Given the description of an element on the screen output the (x, y) to click on. 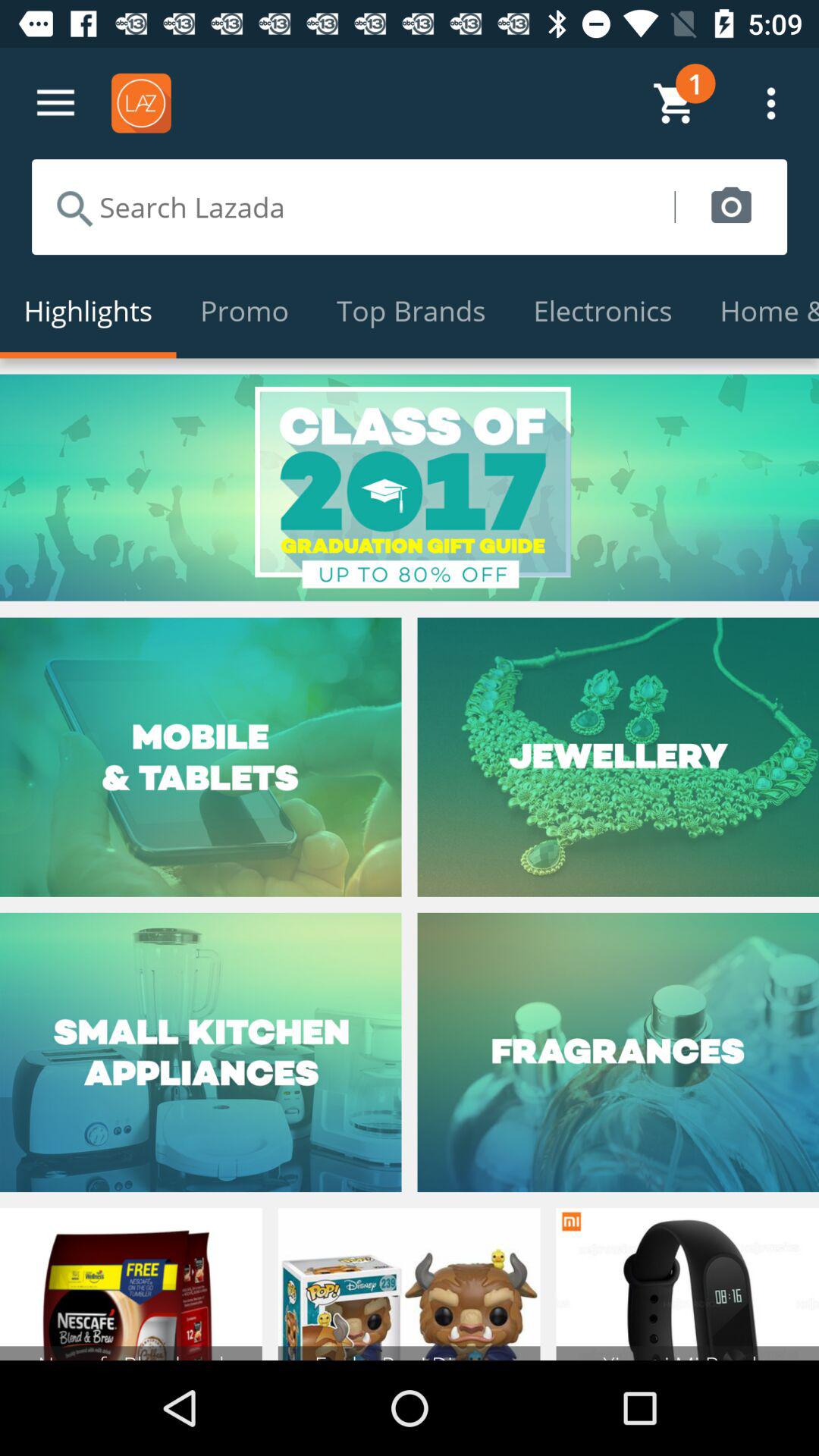
menu (55, 103)
